Given the description of an element on the screen output the (x, y) to click on. 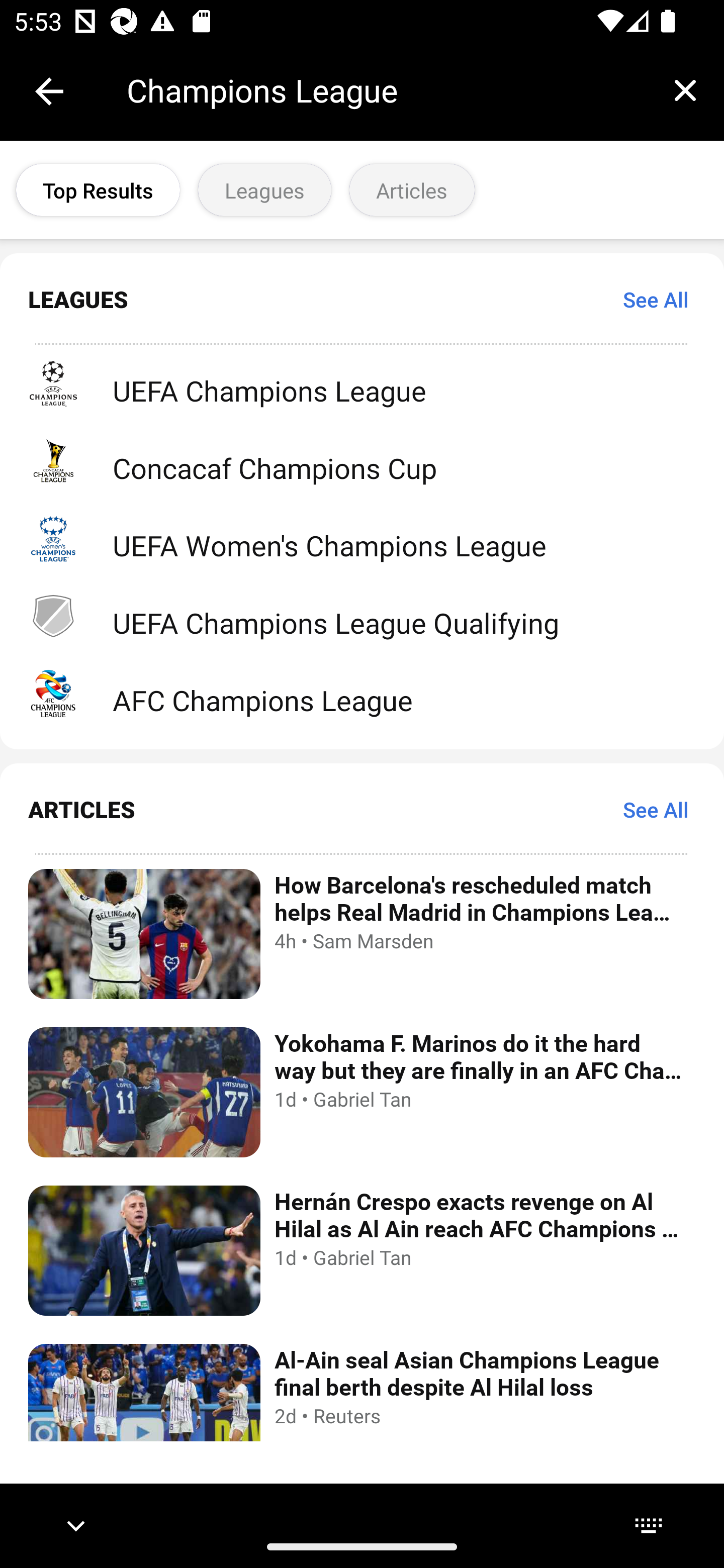
Collapse (49, 91)
Clear query (685, 89)
Champions League (386, 90)
Top Results (97, 190)
Leagues (264, 190)
Articles (411, 190)
See All (655, 298)
UEFA Champions League (362, 382)
Concacaf Champions Cup (362, 460)
UEFA Women's Champions League (362, 538)
UEFA Champions League Qualifying (362, 615)
AFC Champions League (362, 692)
See All (655, 809)
